Given the description of an element on the screen output the (x, y) to click on. 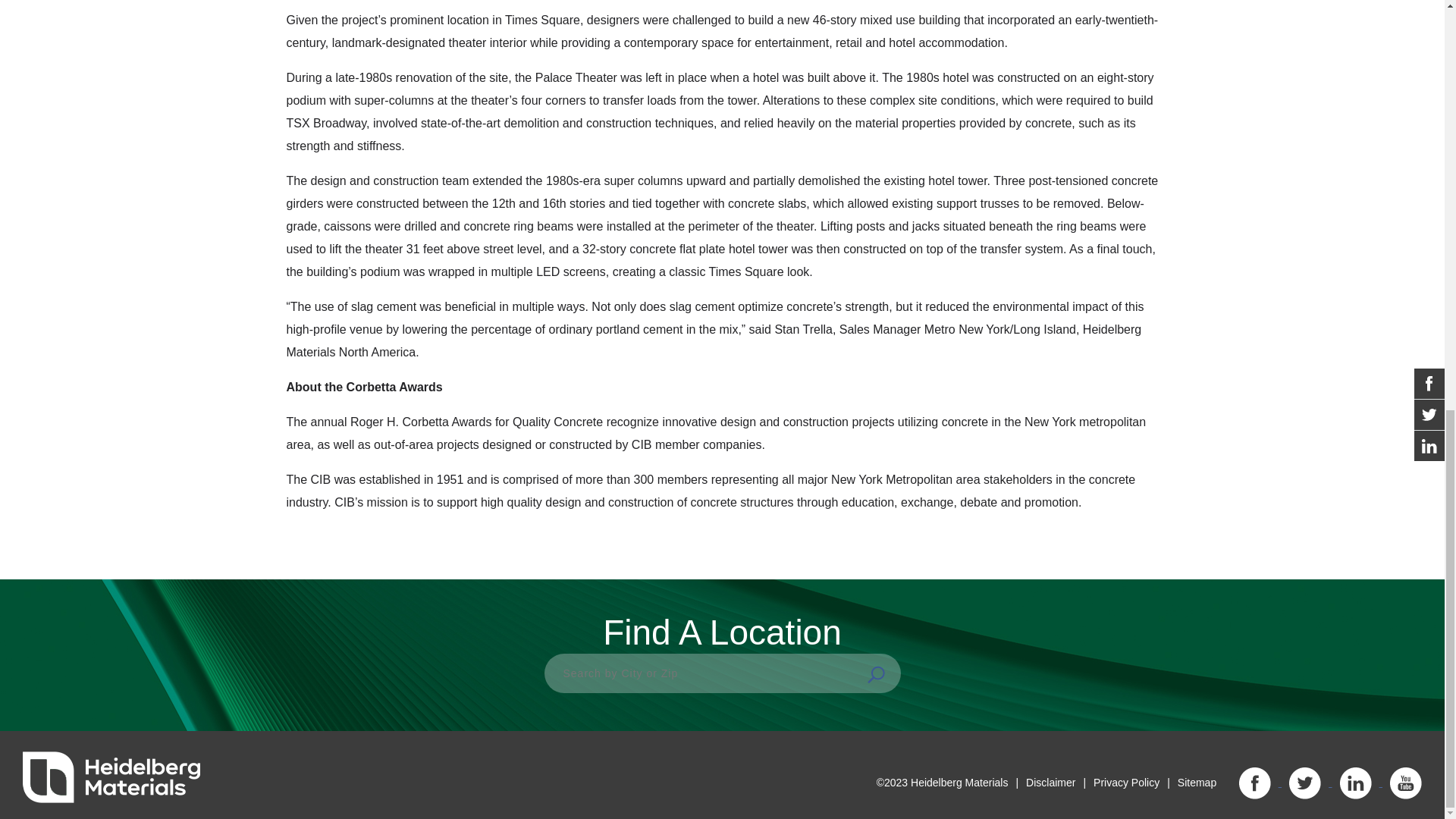
Linkedin (1355, 783)
Youtube (1406, 783)
Lehigh Hanson (111, 777)
Facebook (1255, 783)
Twitter (1304, 783)
Lehigh Hanson Website Privacy Policy (1125, 782)
